Given the description of an element on the screen output the (x, y) to click on. 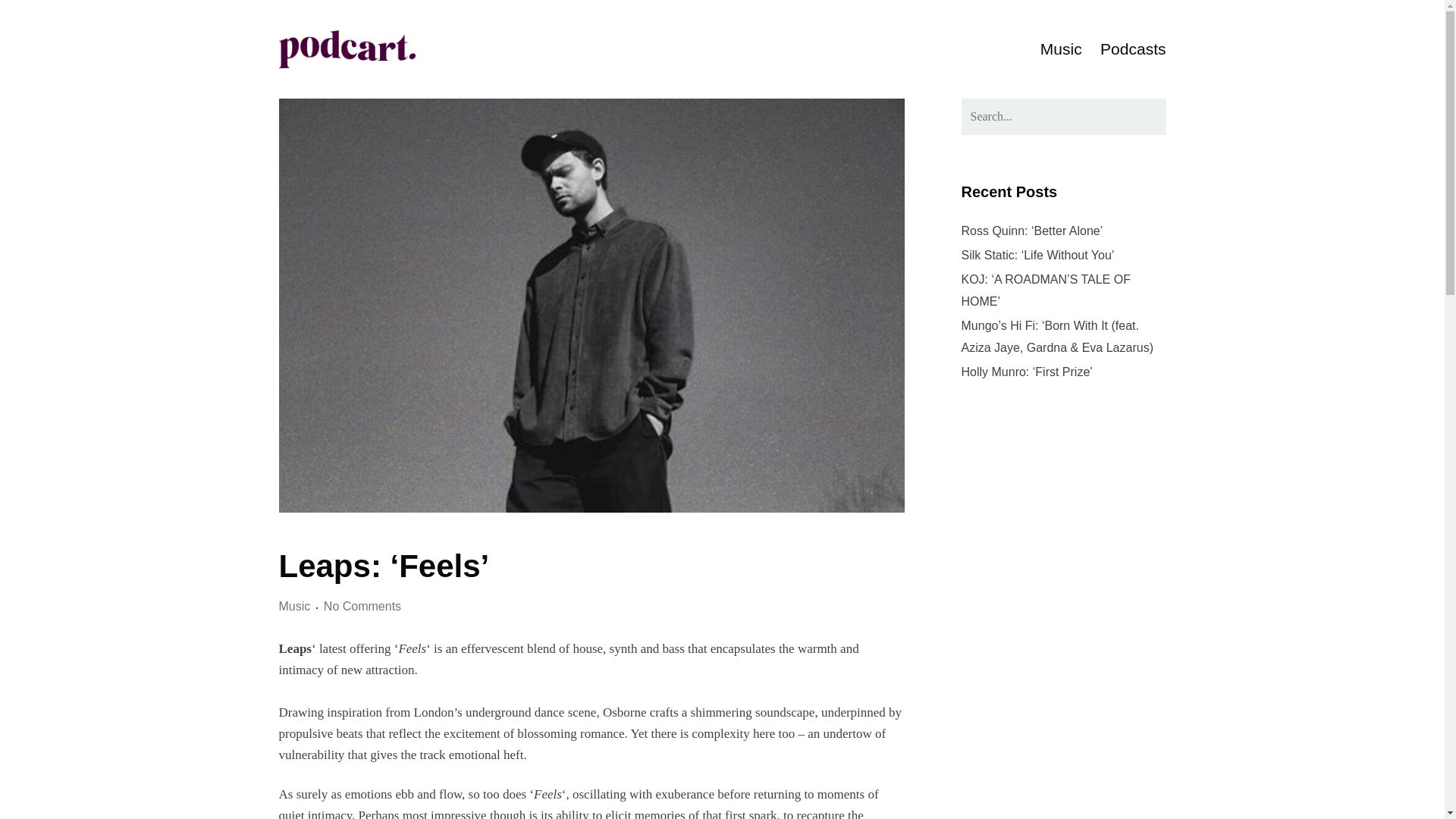
Music (1061, 48)
Podcasts (1133, 48)
No Comments (362, 607)
Music (295, 607)
Press enter to search (1063, 116)
